Given the description of an element on the screen output the (x, y) to click on. 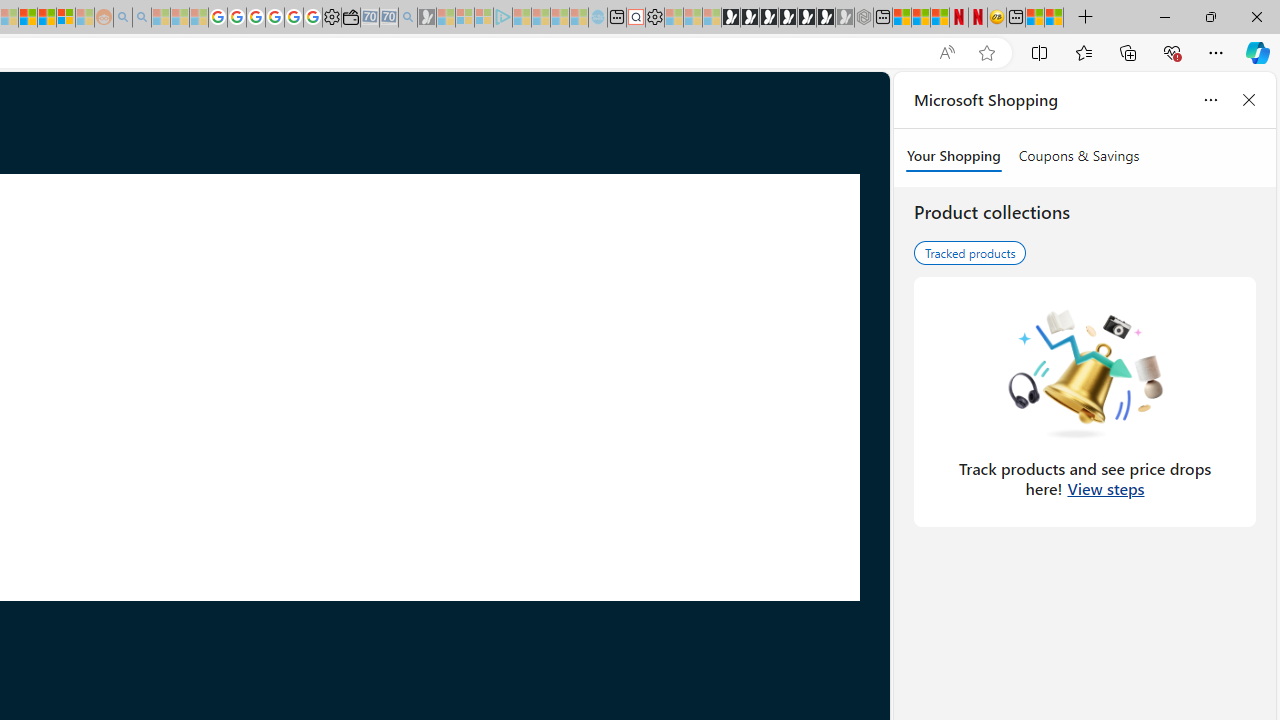
Wildlife - MSN (1035, 17)
Home | Sky Blue Bikes - Sky Blue Bikes - Sleeping (597, 17)
